Given the description of an element on the screen output the (x, y) to click on. 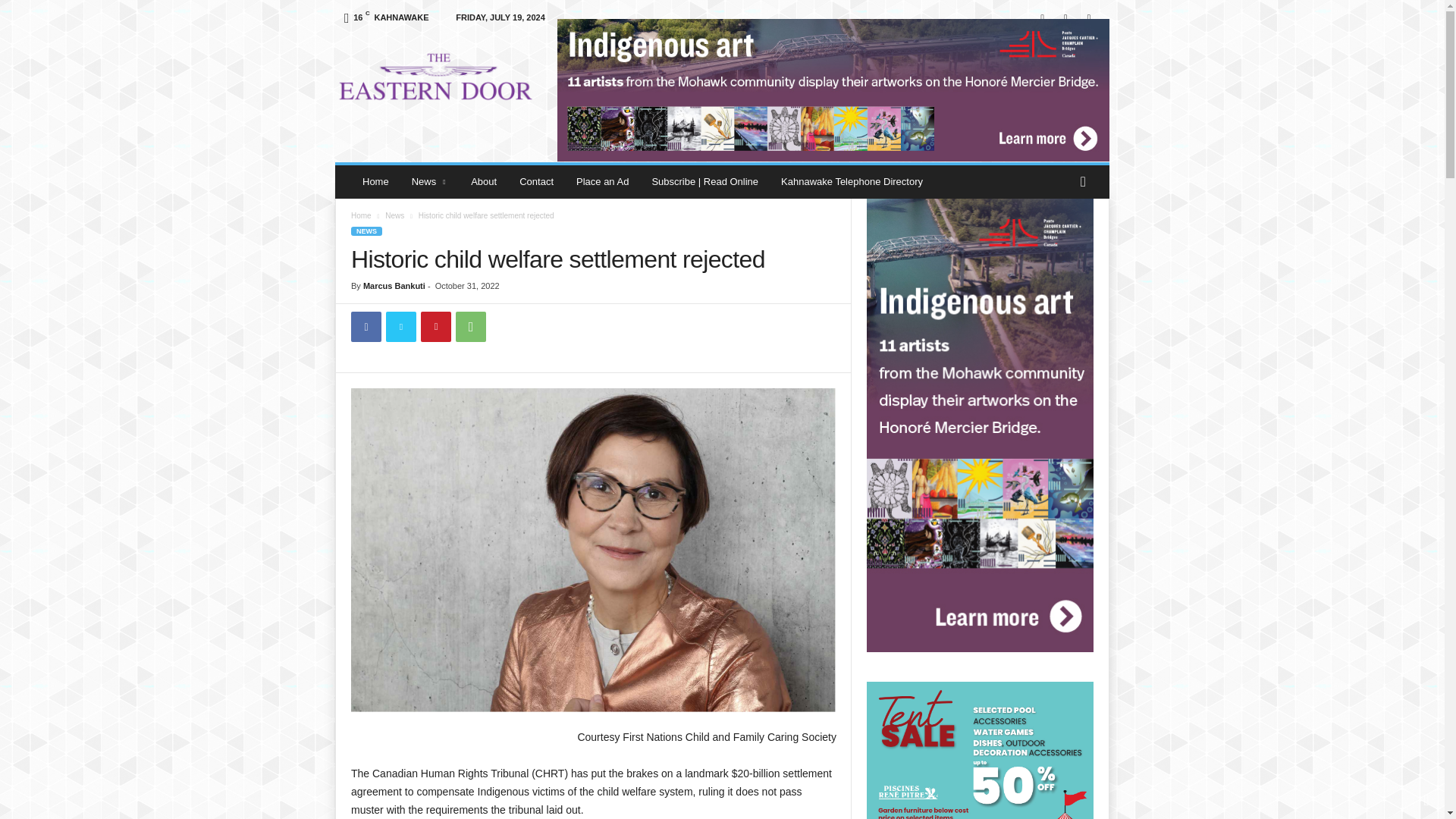
News (430, 182)
News (394, 215)
WhatsApp (470, 327)
Place an Ad (602, 182)
Pinterest (435, 327)
Home (360, 215)
Marcus Bankuti (393, 285)
Contact (536, 182)
The Eastern Door (437, 74)
Twitter (400, 327)
About (484, 182)
View all posts in News (394, 215)
Facebook (365, 327)
NEWS (365, 230)
